Given the description of an element on the screen output the (x, y) to click on. 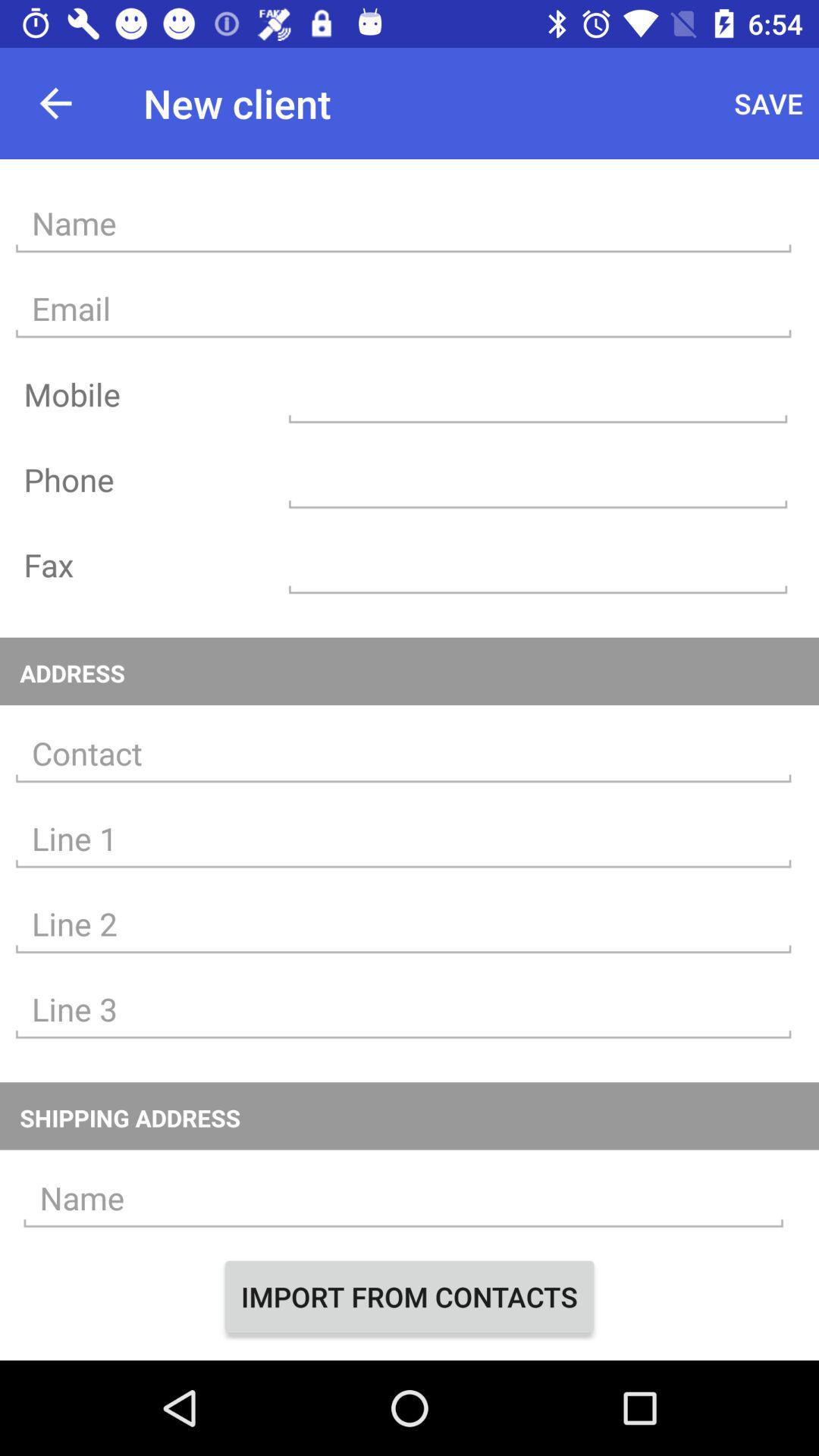
flip until the save (768, 103)
